Given the description of an element on the screen output the (x, y) to click on. 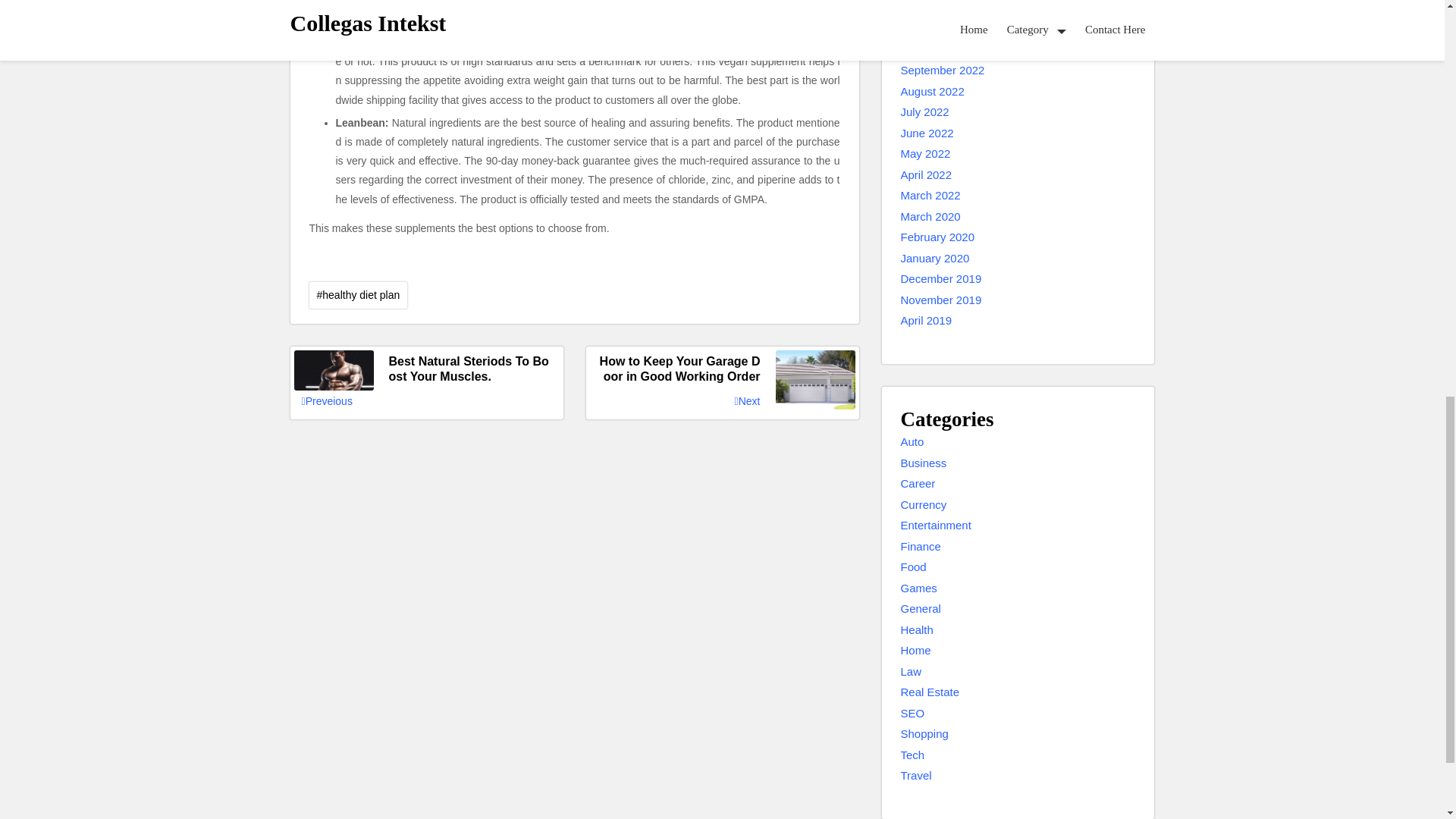
September 2022 (943, 70)
August 2022 (932, 91)
How to Keep Your Garage Door in Good Working Order (721, 368)
December 2022 (941, 8)
May 2022 (925, 153)
February 2020 (938, 237)
July 2022 (925, 112)
June 2022 (927, 133)
October 2022 (935, 49)
Preveious (326, 401)
